Given the description of an element on the screen output the (x, y) to click on. 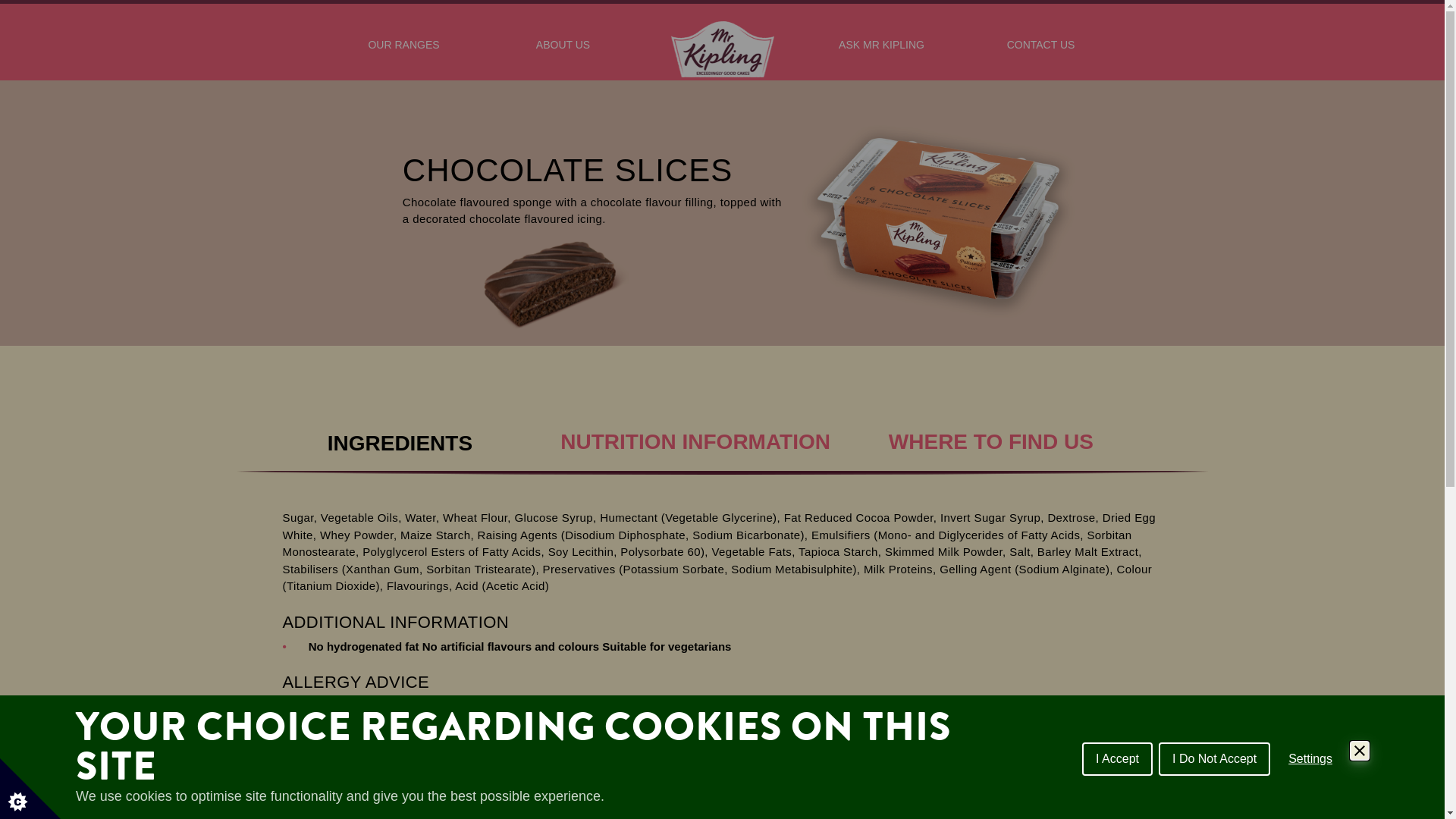
WHERE TO FIND US Element type: text (991, 425)
INGREDIENTS Element type: text (399, 437)
Settings Element type: text (1310, 758)
ABOUT US Element type: text (563, 51)
ASK MR KIPLING Element type: text (881, 51)
CONTACT US Element type: text (1040, 51)
OUR RANGES Element type: text (403, 51)
NUTRITION INFORMATION Element type: text (695, 425)
I Accept Element type: text (1117, 758)
I Do Not Accept Element type: text (1214, 758)
